Given the description of an element on the screen output the (x, y) to click on. 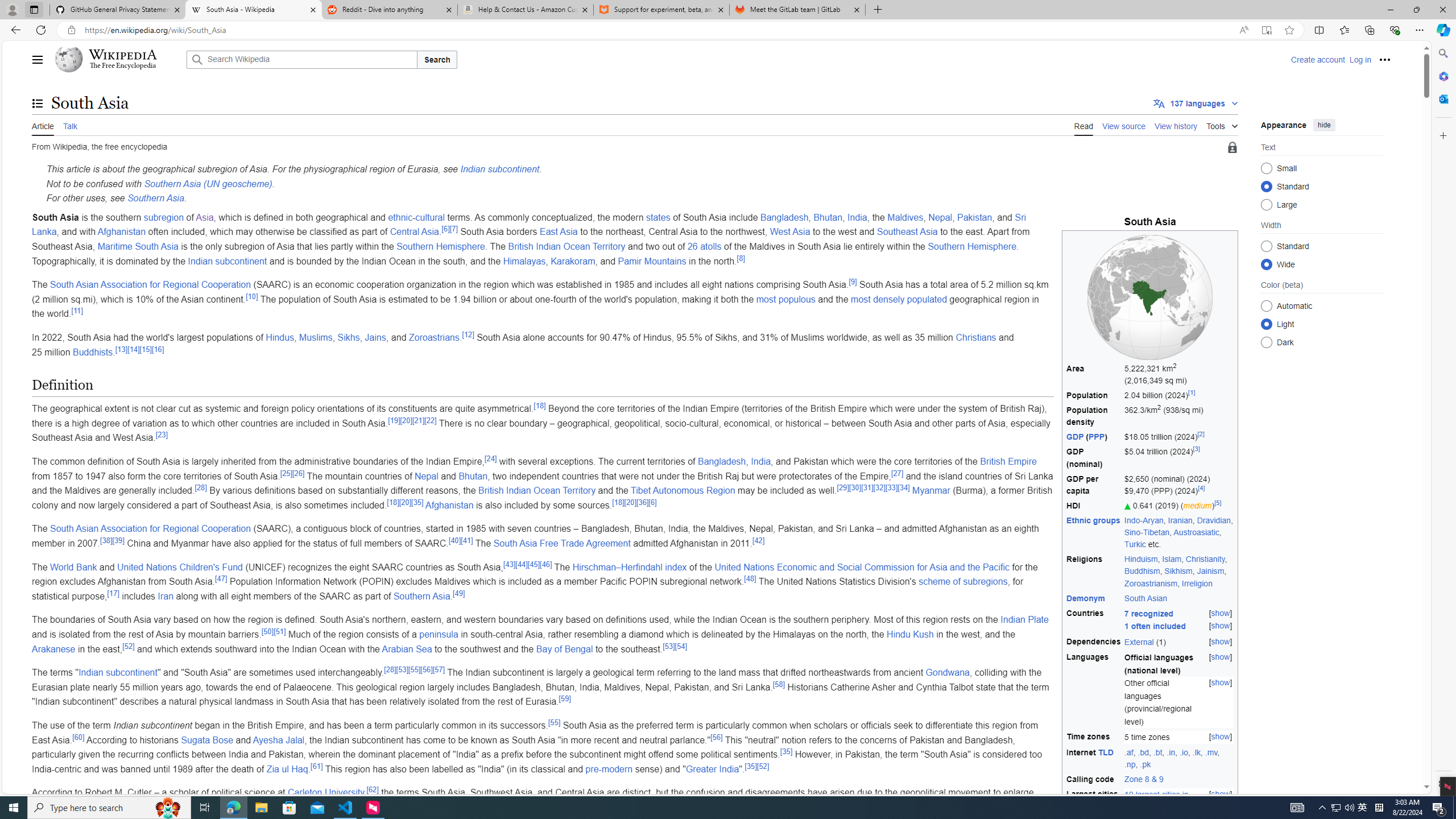
GDP (PPP) (1093, 436)
India (761, 461)
[3] (1196, 448)
Bangladesh (721, 461)
[10] (251, 295)
Nepal (426, 475)
[22] (429, 420)
British Indian Ocean Territory (537, 490)
Austroasiatic (1196, 532)
[43] (508, 563)
Greater India (712, 768)
